Given the description of an element on the screen output the (x, y) to click on. 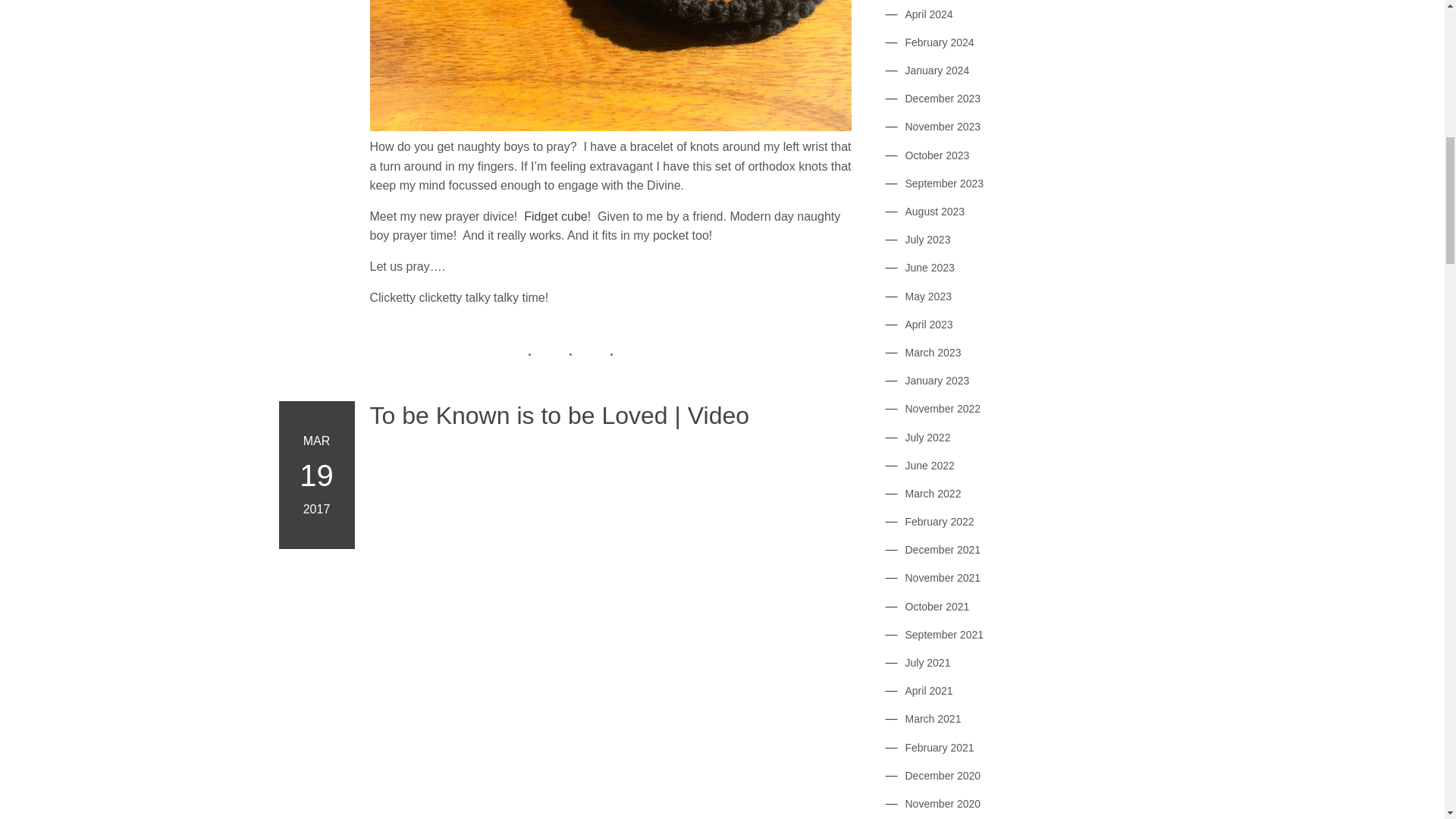
April 2024 (929, 14)
February 2024 (939, 42)
January 2024 (937, 70)
Fidget cube (556, 216)
